Given the description of an element on the screen output the (x, y) to click on. 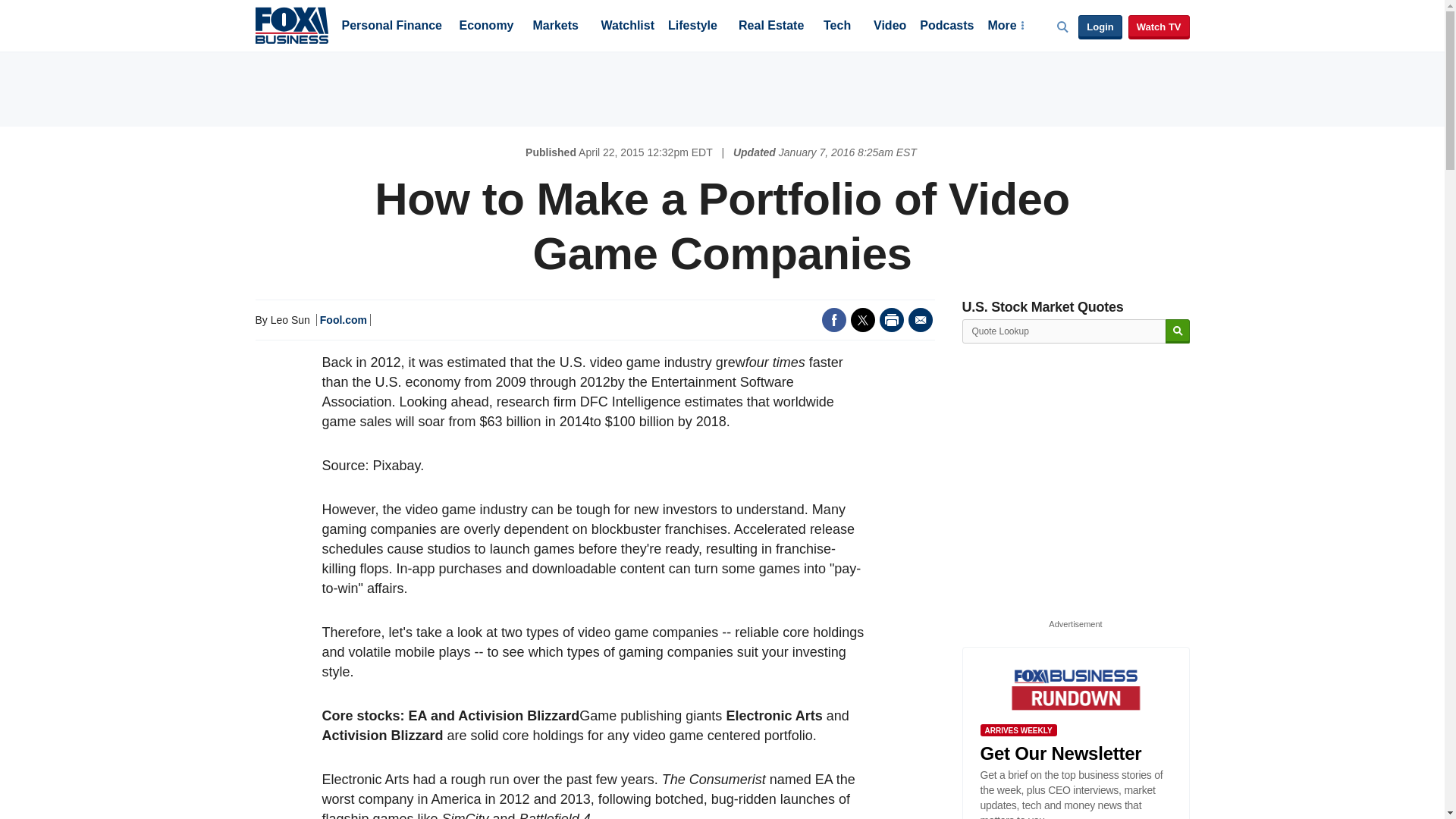
Personal Finance (391, 27)
Login (1099, 27)
Watchlist (626, 27)
Tech (837, 27)
Podcasts (947, 27)
Real Estate (770, 27)
Video (889, 27)
Fox Business (290, 24)
Search (1176, 331)
Markets (555, 27)
